Given the description of an element on the screen output the (x, y) to click on. 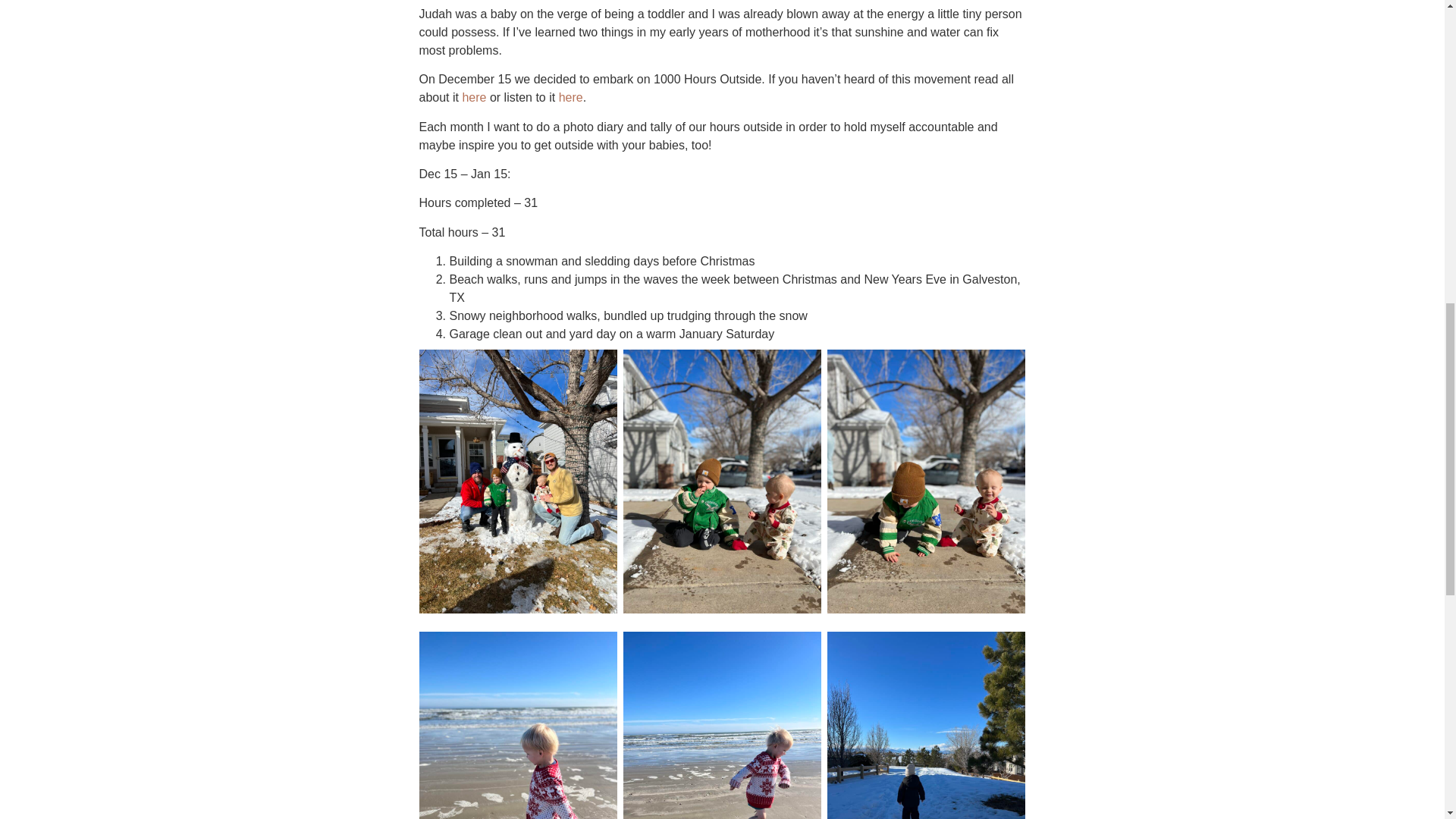
here (571, 97)
here (473, 97)
